Given the description of an element on the screen output the (x, y) to click on. 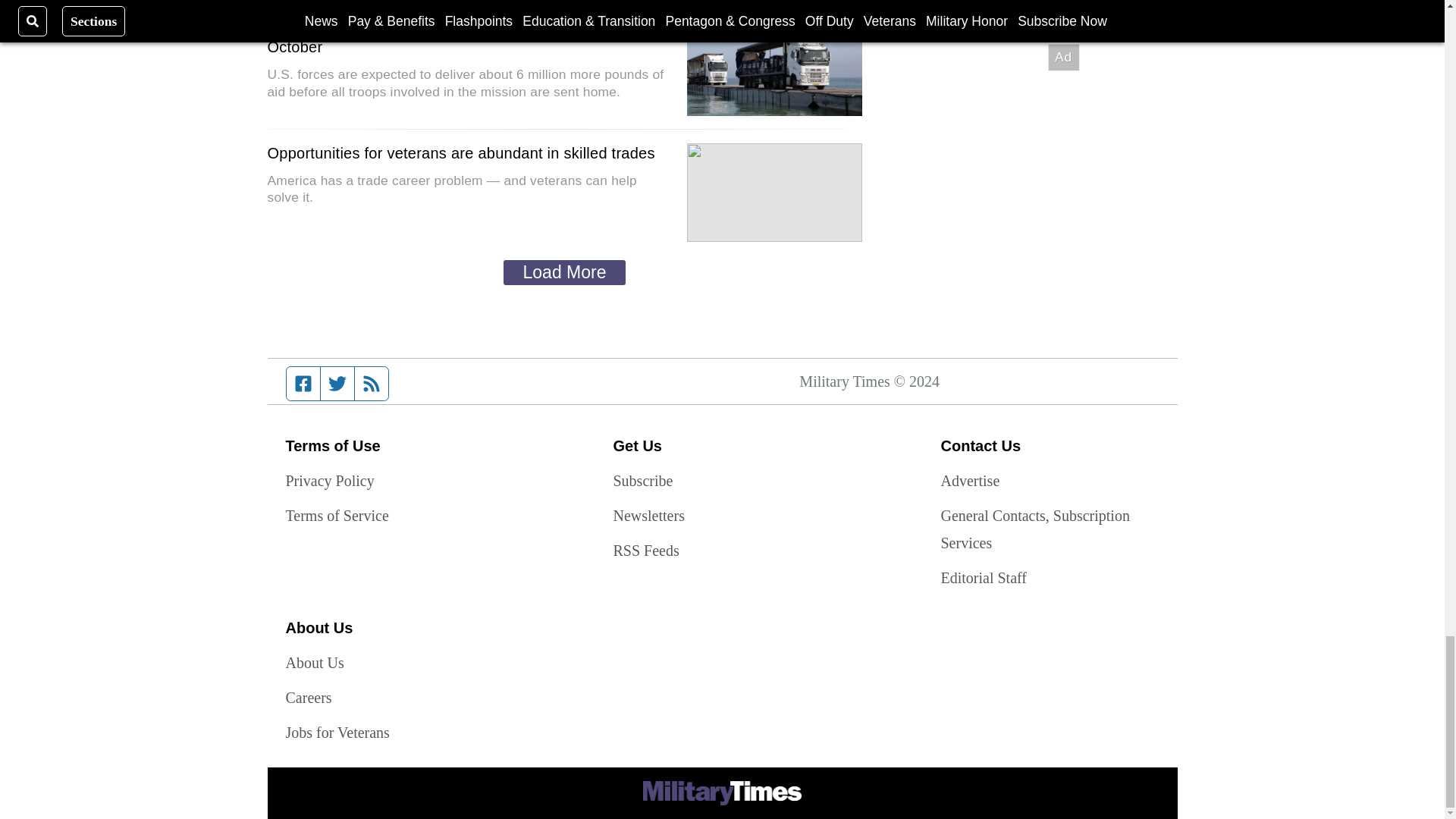
RSS feed (371, 383)
Twitter feed (336, 383)
Facebook page (303, 383)
